Given the description of an element on the screen output the (x, y) to click on. 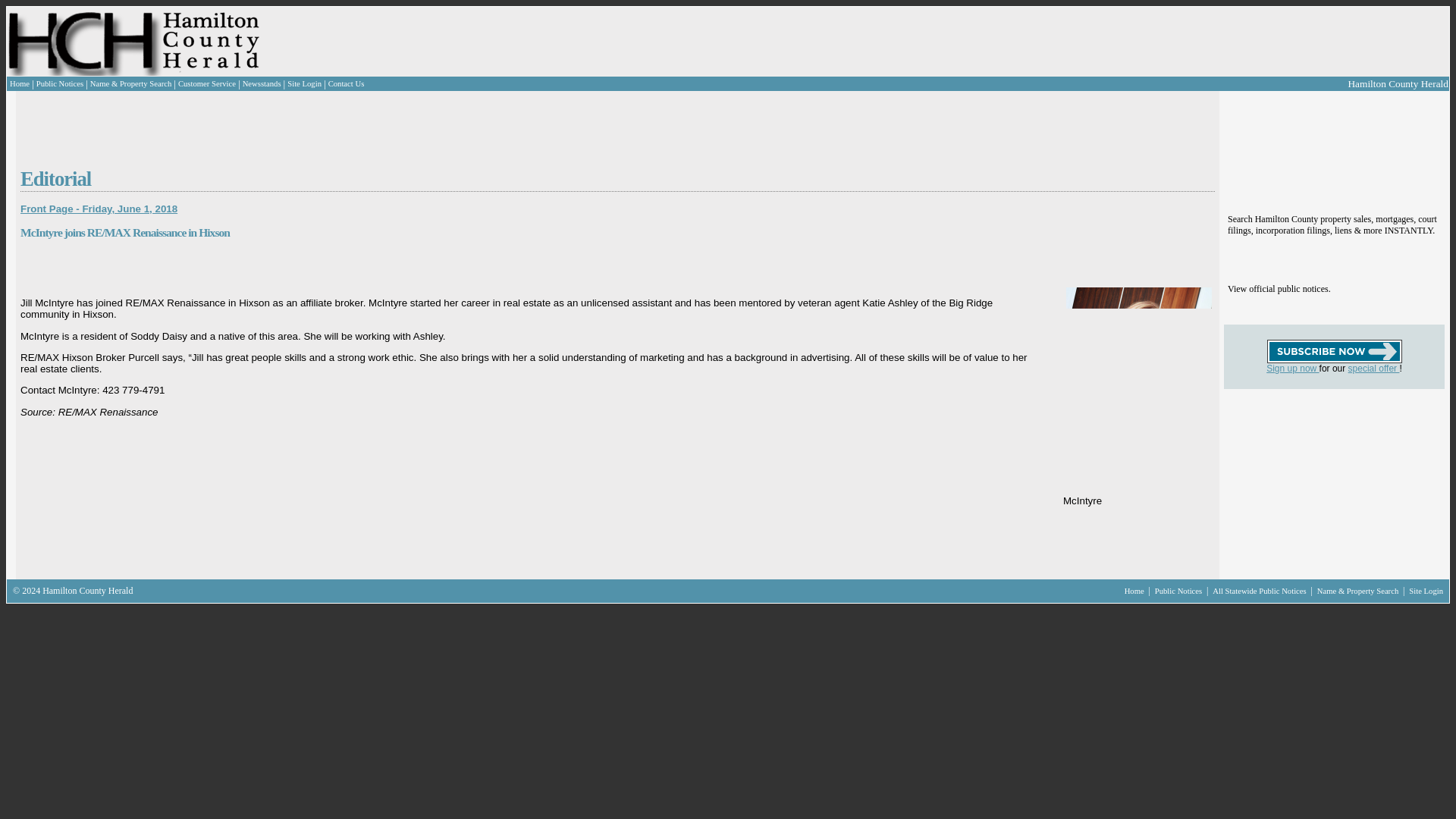
Front Page - Friday, June 1, 2018 (98, 208)
Home (19, 83)
Customer Service (206, 83)
special offer (1373, 368)
Contact Us (347, 83)
Site Login (303, 83)
Public Notices (1179, 591)
Public Notices (59, 83)
View official public notices. (1278, 288)
Newsstands (262, 83)
Site Login (1425, 591)
All Statewide Public Notices (1259, 591)
Home (1135, 591)
Sign up now (1292, 368)
